Given the description of an element on the screen output the (x, y) to click on. 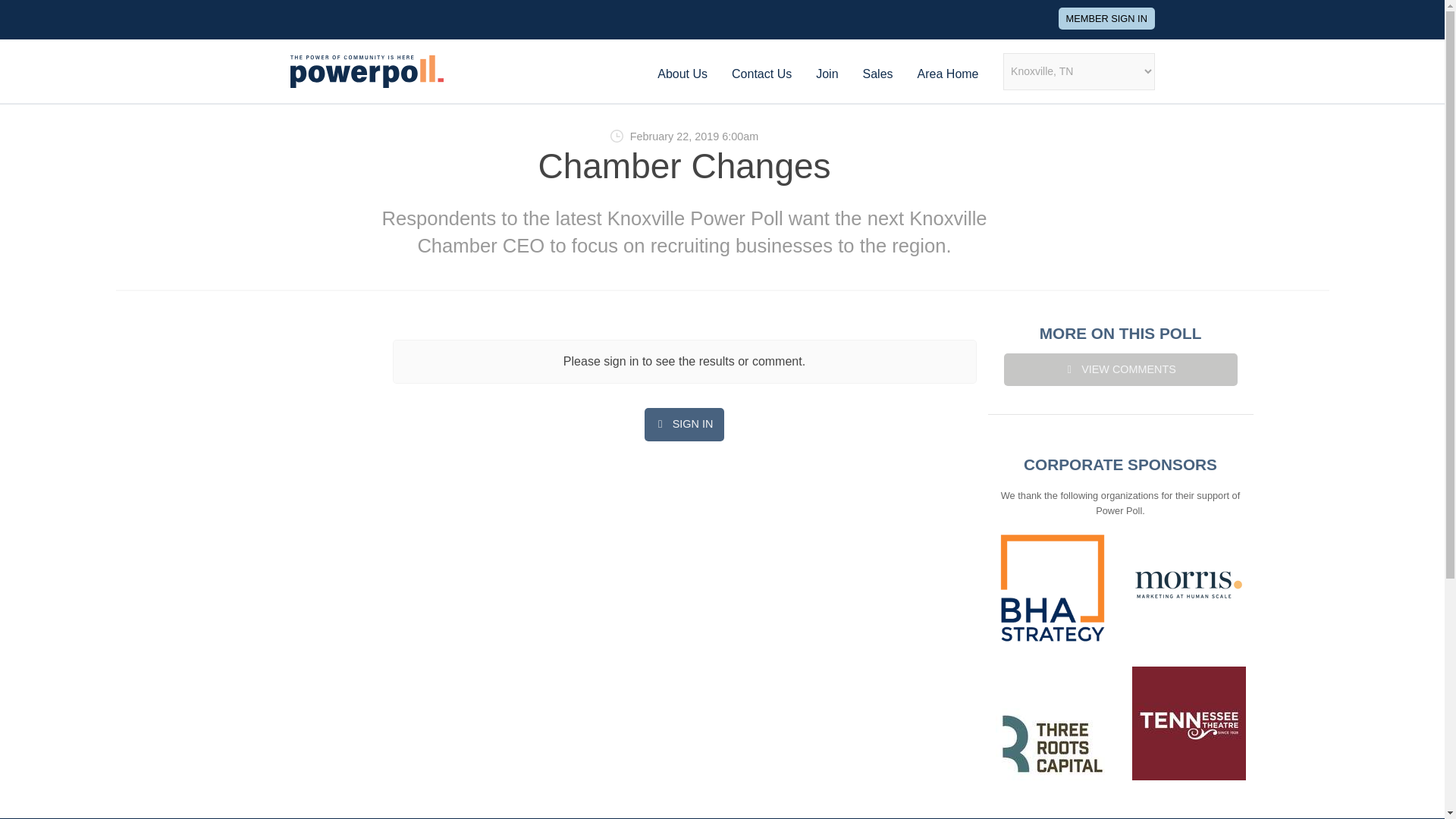
BHA Strategy Logo (1051, 587)
Morris Creative Group LLC Logo (1187, 586)
Sales (878, 72)
The Tennessee Theatre Logo (1187, 723)
Area Home (947, 72)
MEMBER SIGN IN (1106, 18)
VIEW COMMENTS (1120, 368)
Contact Us (762, 72)
SIGN IN (684, 423)
Join (826, 72)
